Given the description of an element on the screen output the (x, y) to click on. 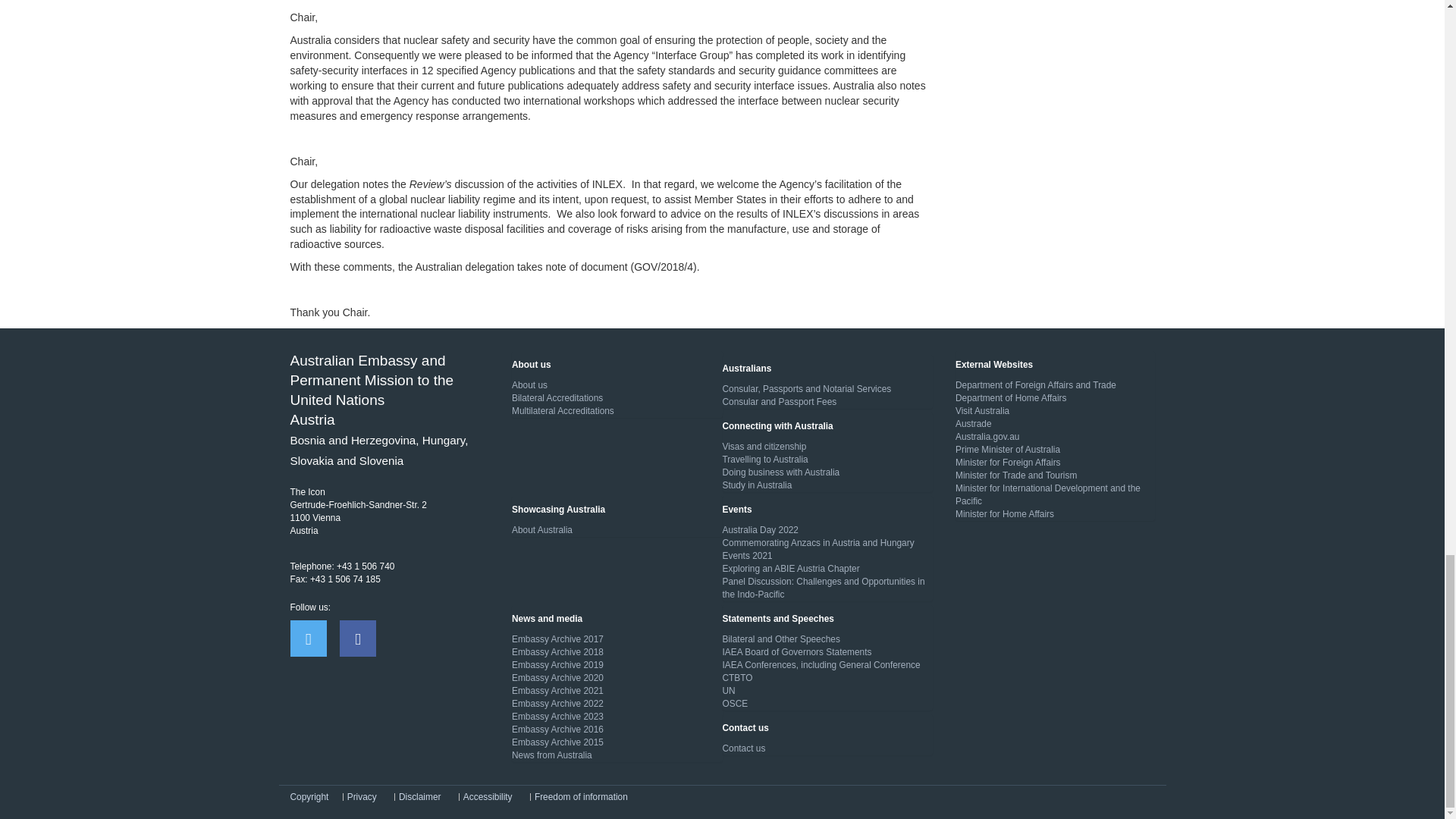
Twitter (307, 637)
Facebook (357, 637)
